Given the description of an element on the screen output the (x, y) to click on. 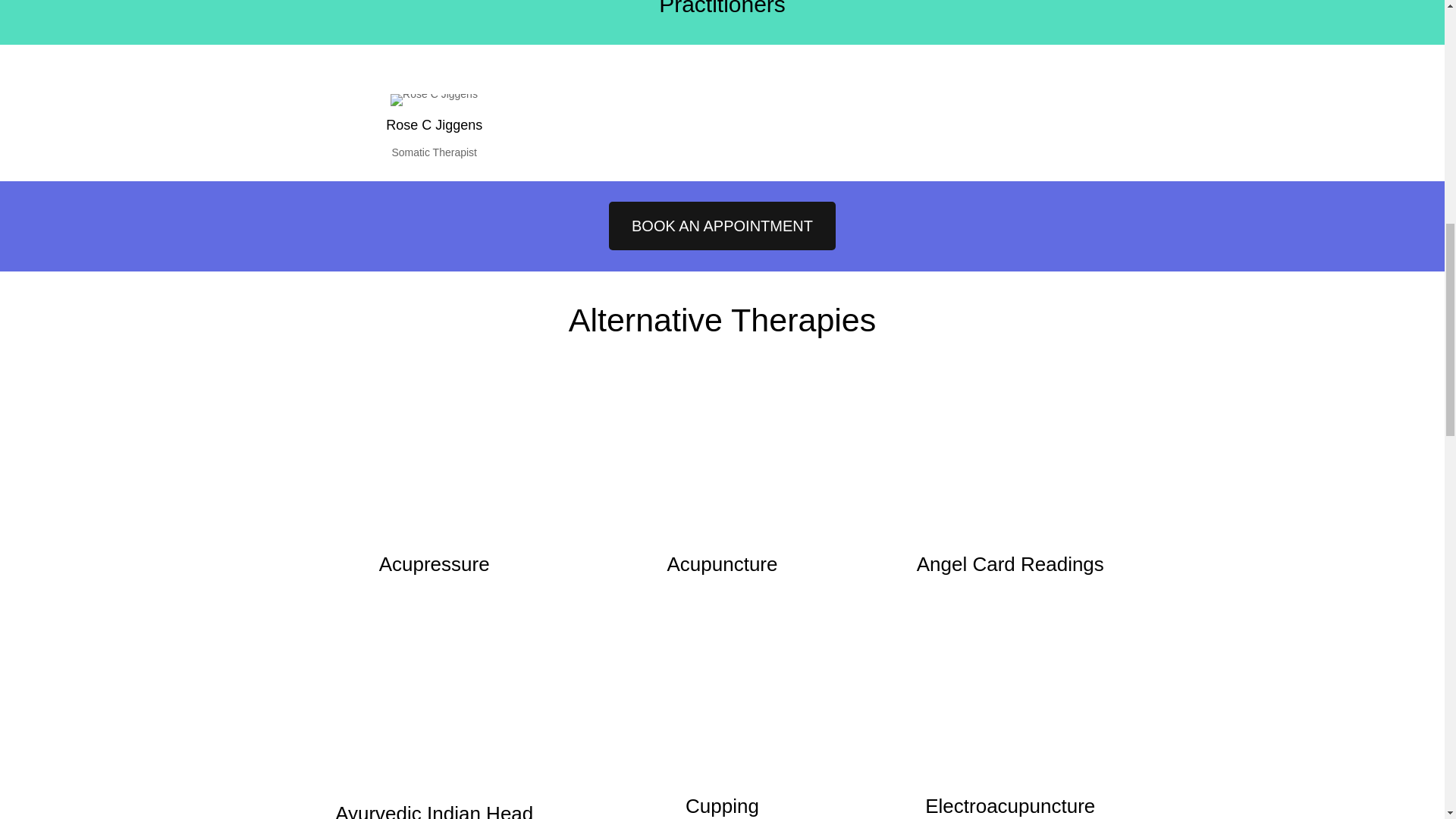
BOOK AN APPOINTMENT (721, 225)
